Given the description of an element on the screen output the (x, y) to click on. 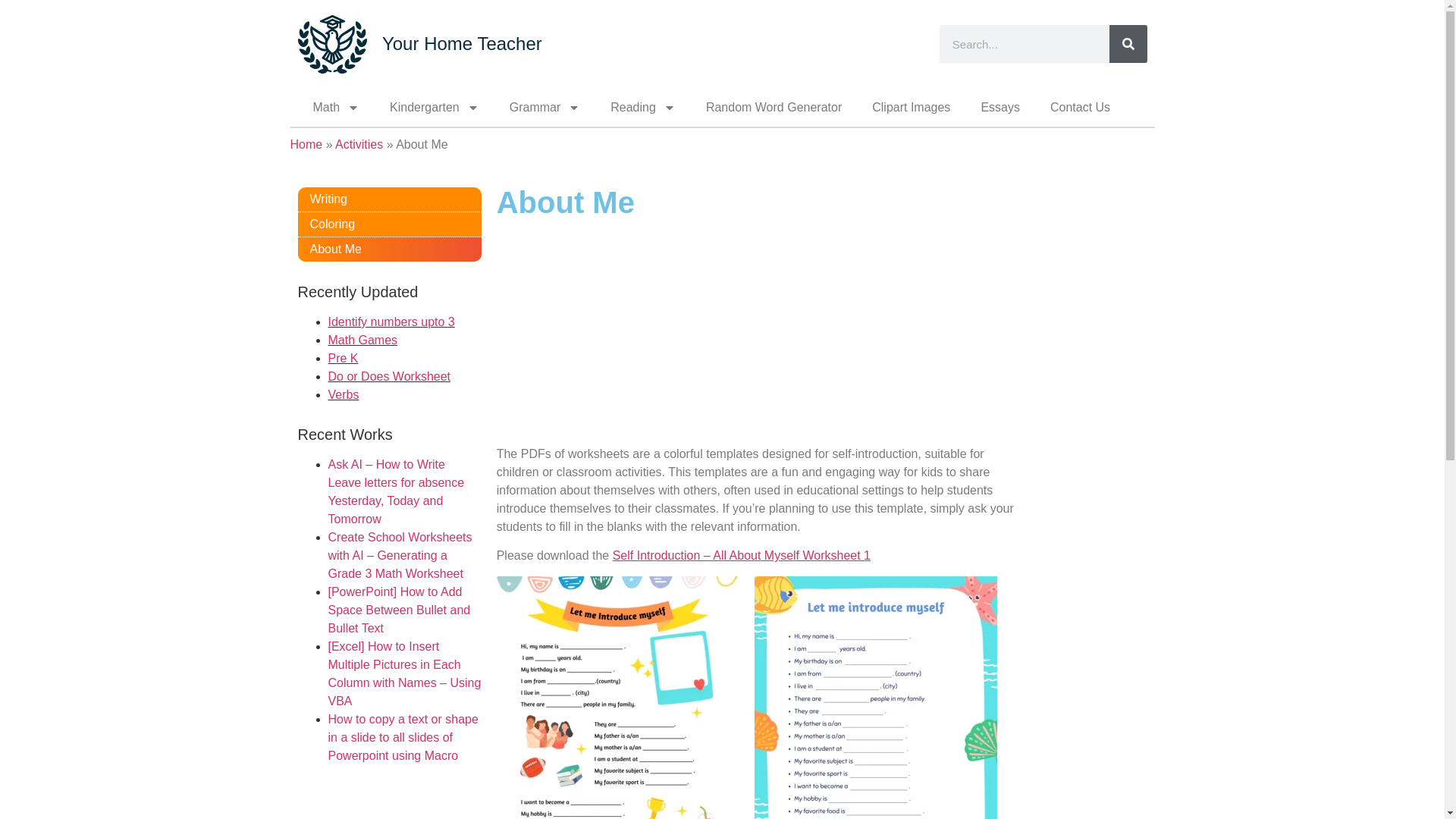
Clipart Images (911, 107)
Kindergarten (434, 107)
Coloring (388, 224)
Reading (642, 107)
Math (335, 107)
Essays (1000, 107)
Grammar (545, 107)
Writing (388, 199)
Random Word Generator (773, 107)
Home (305, 144)
